Given the description of an element on the screen output the (x, y) to click on. 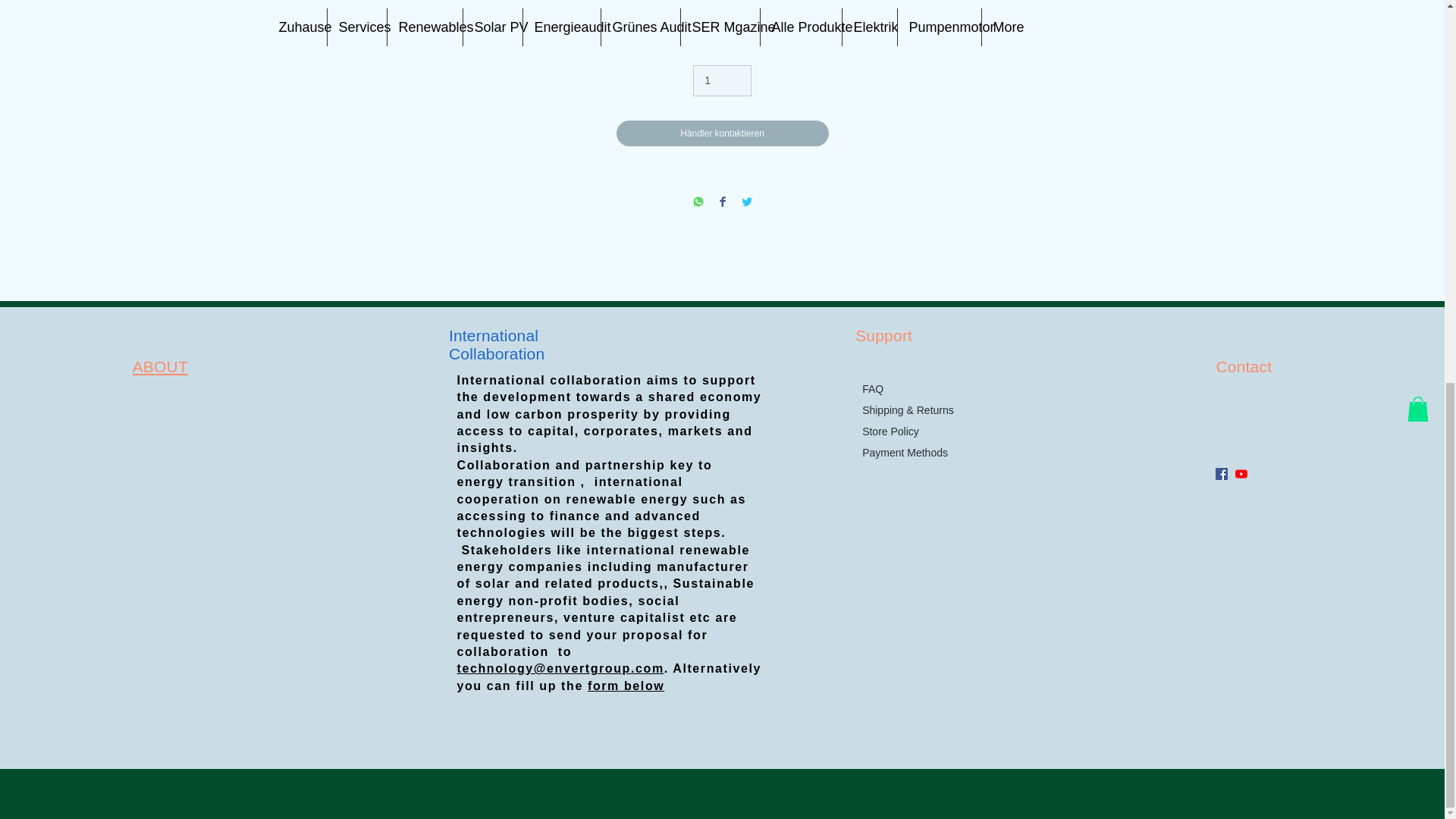
Store Policy (889, 431)
ABOUT (159, 366)
1 (722, 80)
International Collaboration (496, 344)
FAQ (872, 388)
Payment Methods (904, 452)
